Given the description of an element on the screen output the (x, y) to click on. 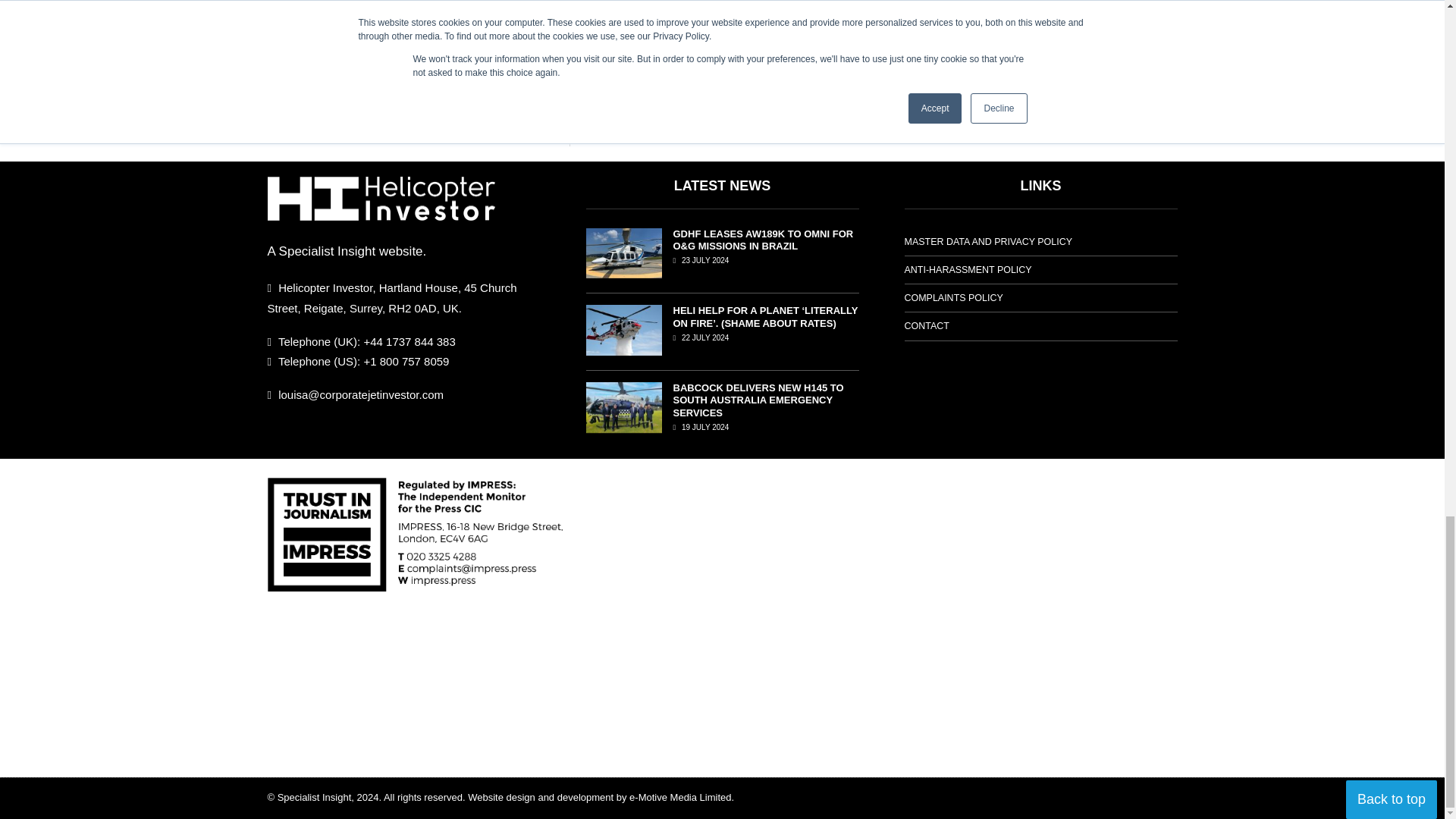
Facebook (322, 2)
Email (412, 2)
Twitter (352, 2)
LinkedIn (382, 2)
